Given the description of an element on the screen output the (x, y) to click on. 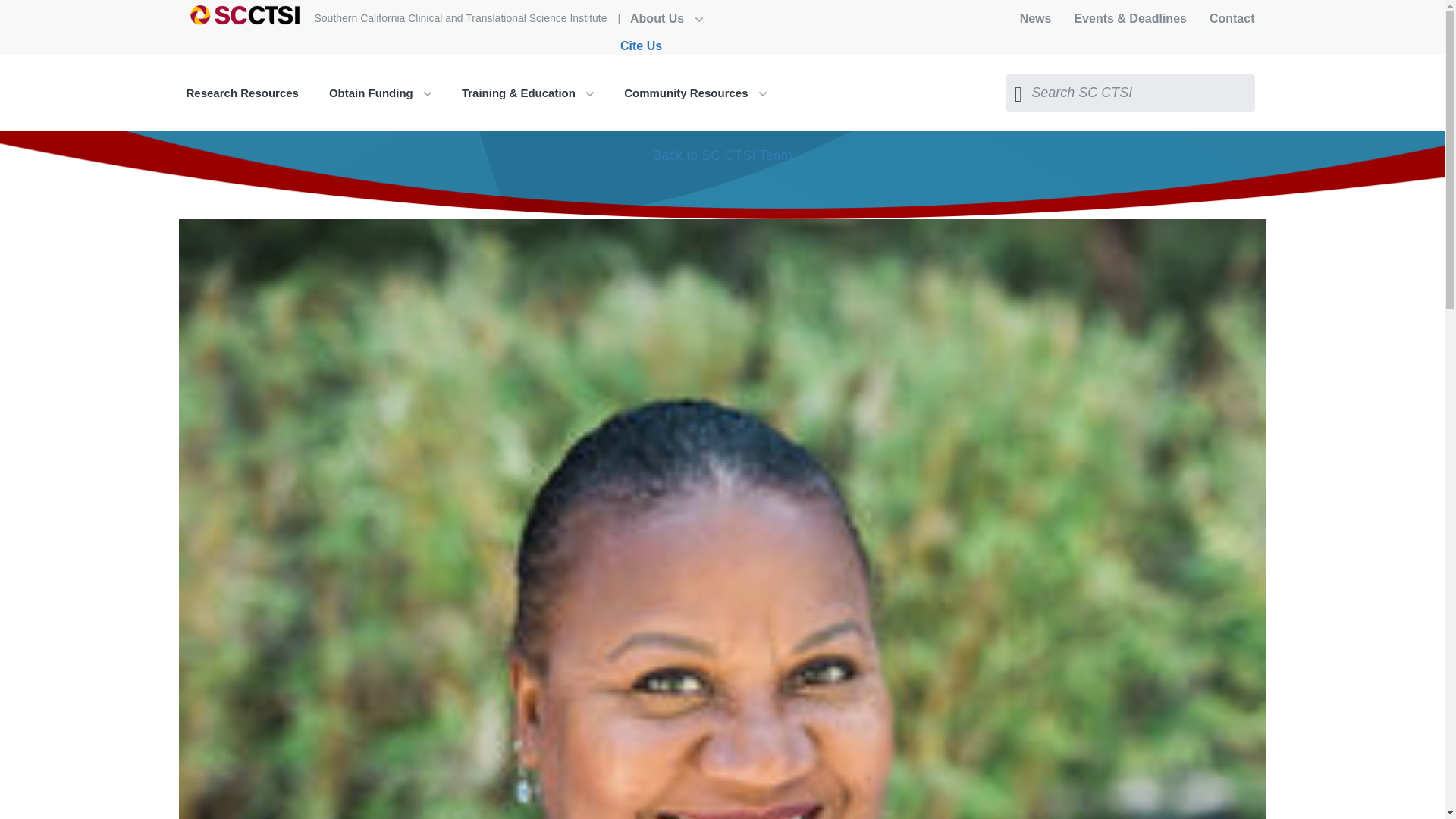
Cite Us (641, 45)
Contact (1232, 18)
News (1035, 18)
